Given the description of an element on the screen output the (x, y) to click on. 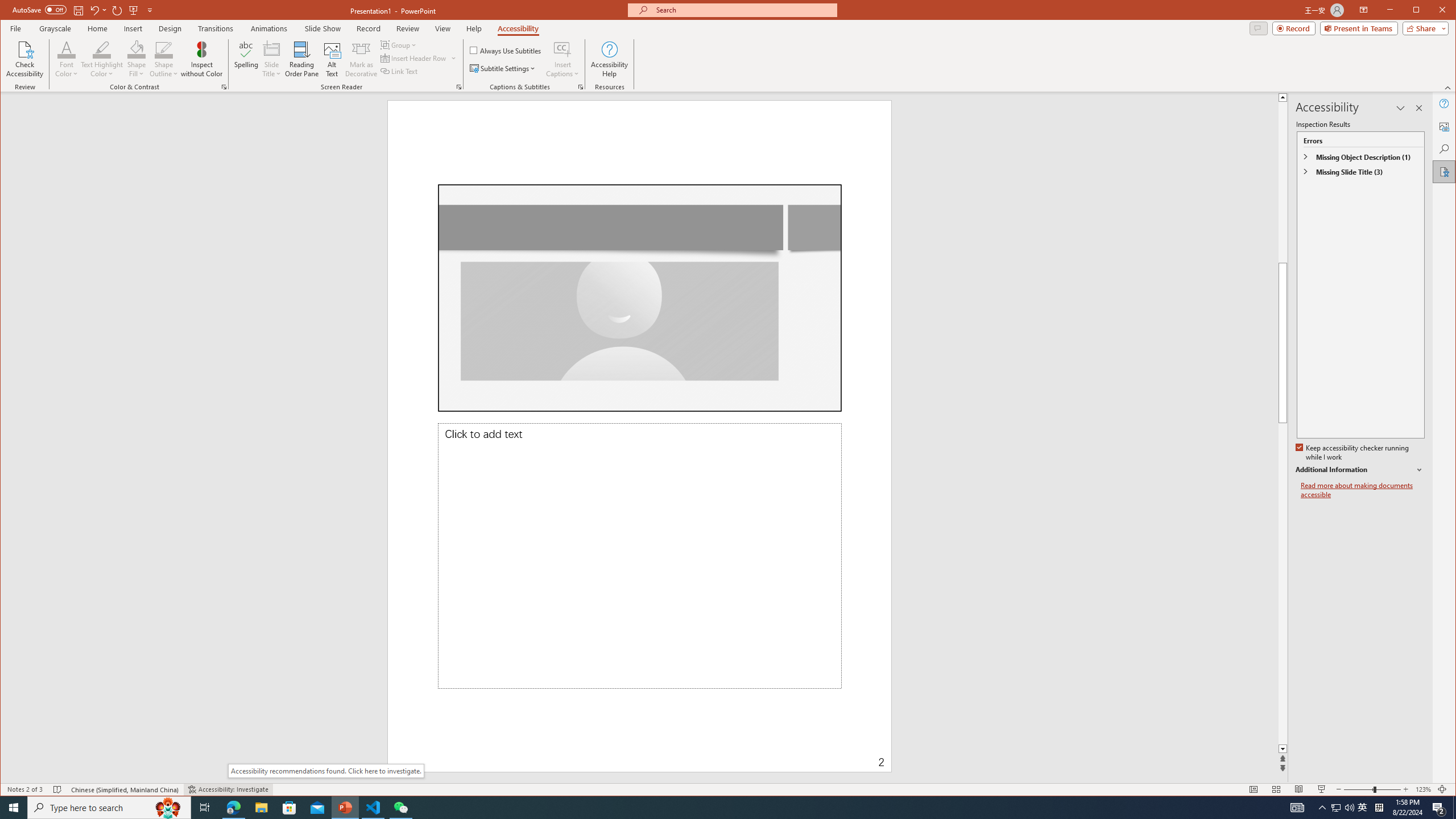
Slide Title (271, 48)
Insert Header Row (418, 57)
WeChat - 1 running window (400, 807)
Subtitle Settings (502, 68)
Accessibility Help (608, 59)
Link Text (399, 70)
Always Use Subtitles (505, 49)
